Given the description of an element on the screen output the (x, y) to click on. 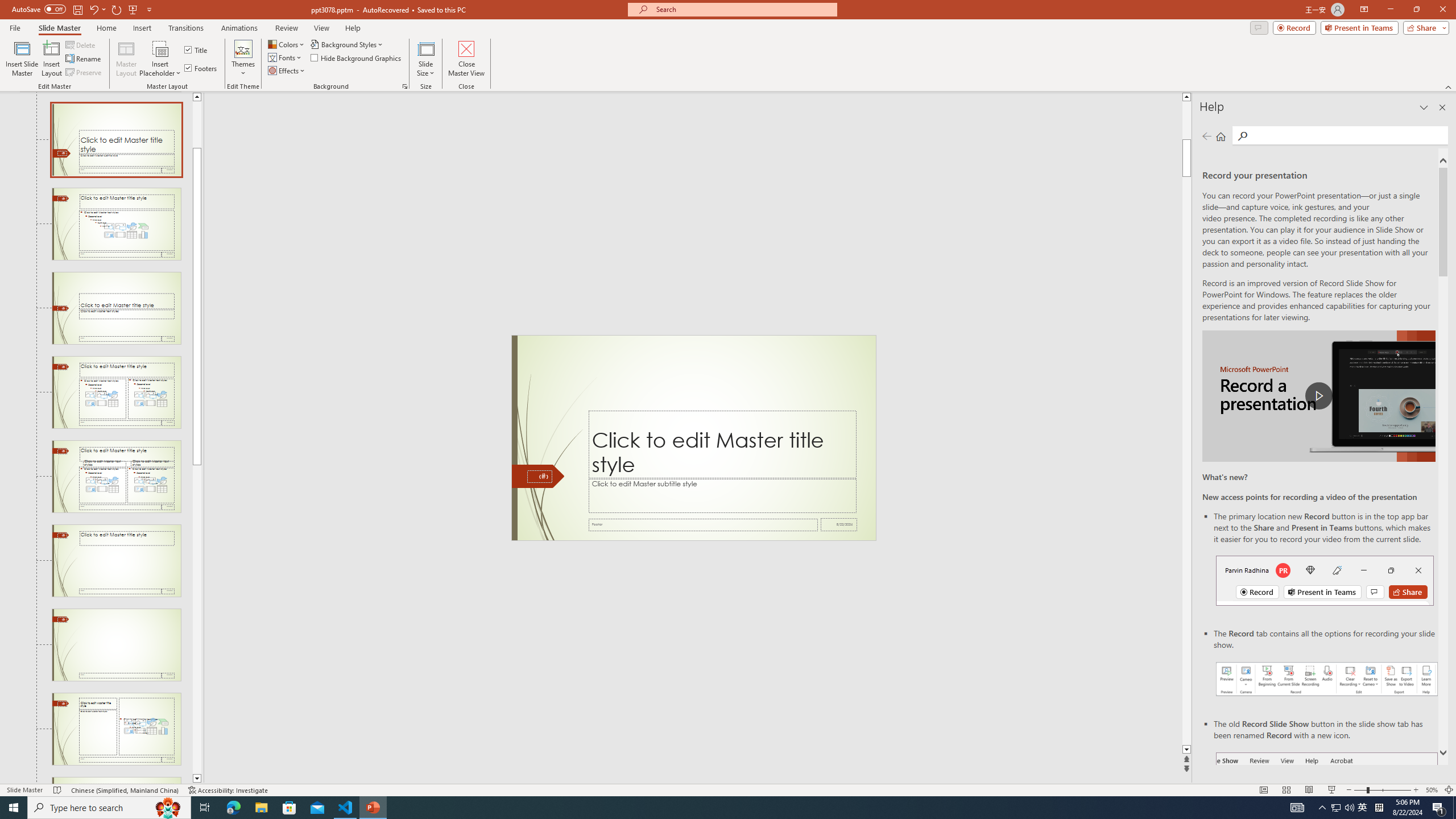
Insert Placeholder (160, 58)
Slide Size (425, 58)
play Record a Presentation (1318, 395)
Background Styles (347, 44)
Fonts (285, 56)
Record your presentations screenshot one (1326, 678)
